Given the description of an element on the screen output the (x, y) to click on. 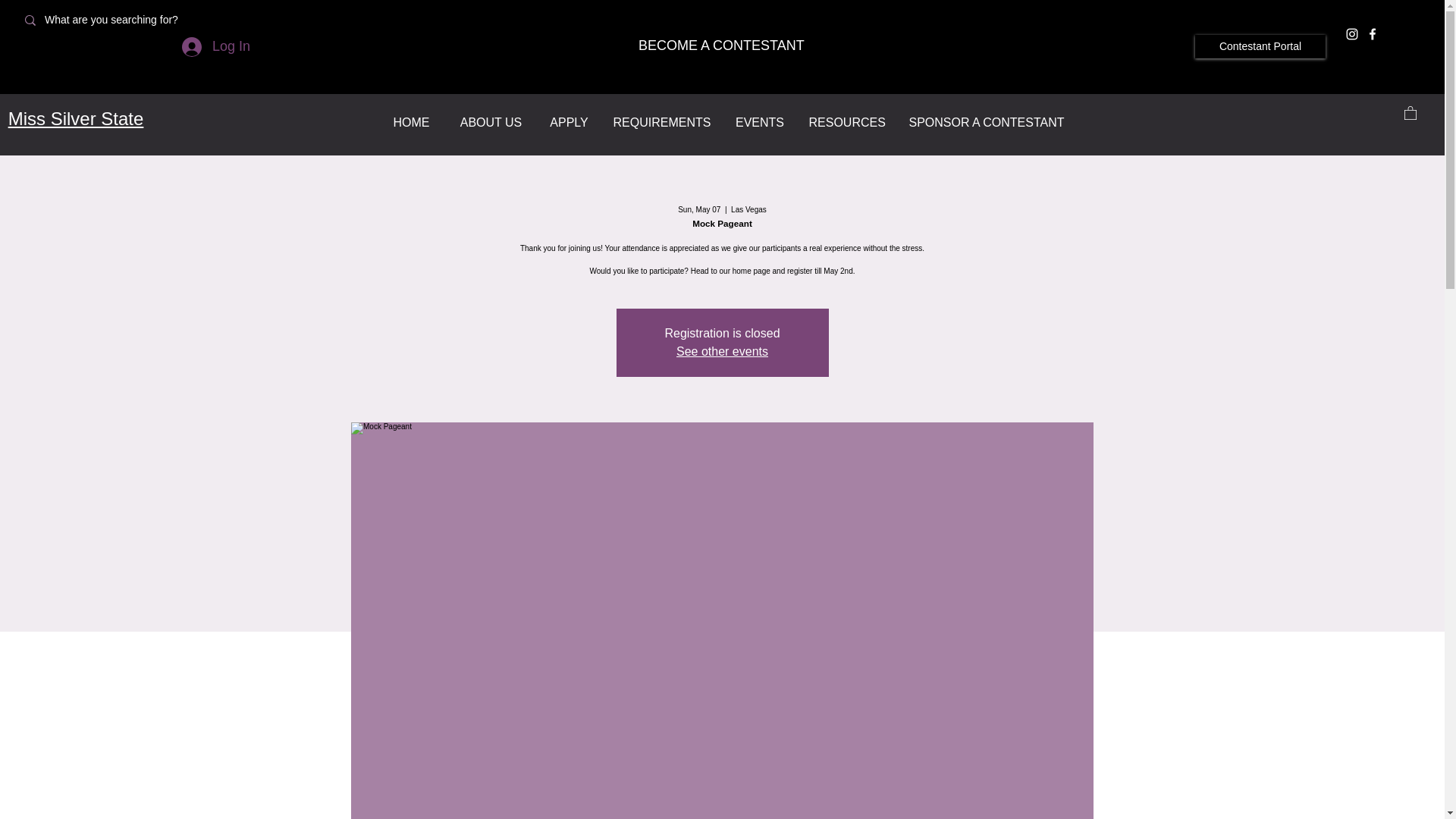
BECOME A CONTESTANT (721, 46)
REQUIREMENTS (662, 122)
APPLY (569, 122)
RESOURCES (846, 122)
HOME (411, 122)
Log In (215, 46)
Contestant Portal (1259, 46)
Miss Silver State (76, 118)
See other events (722, 350)
SPONSOR A CONTESTANT (985, 122)
